Given the description of an element on the screen output the (x, y) to click on. 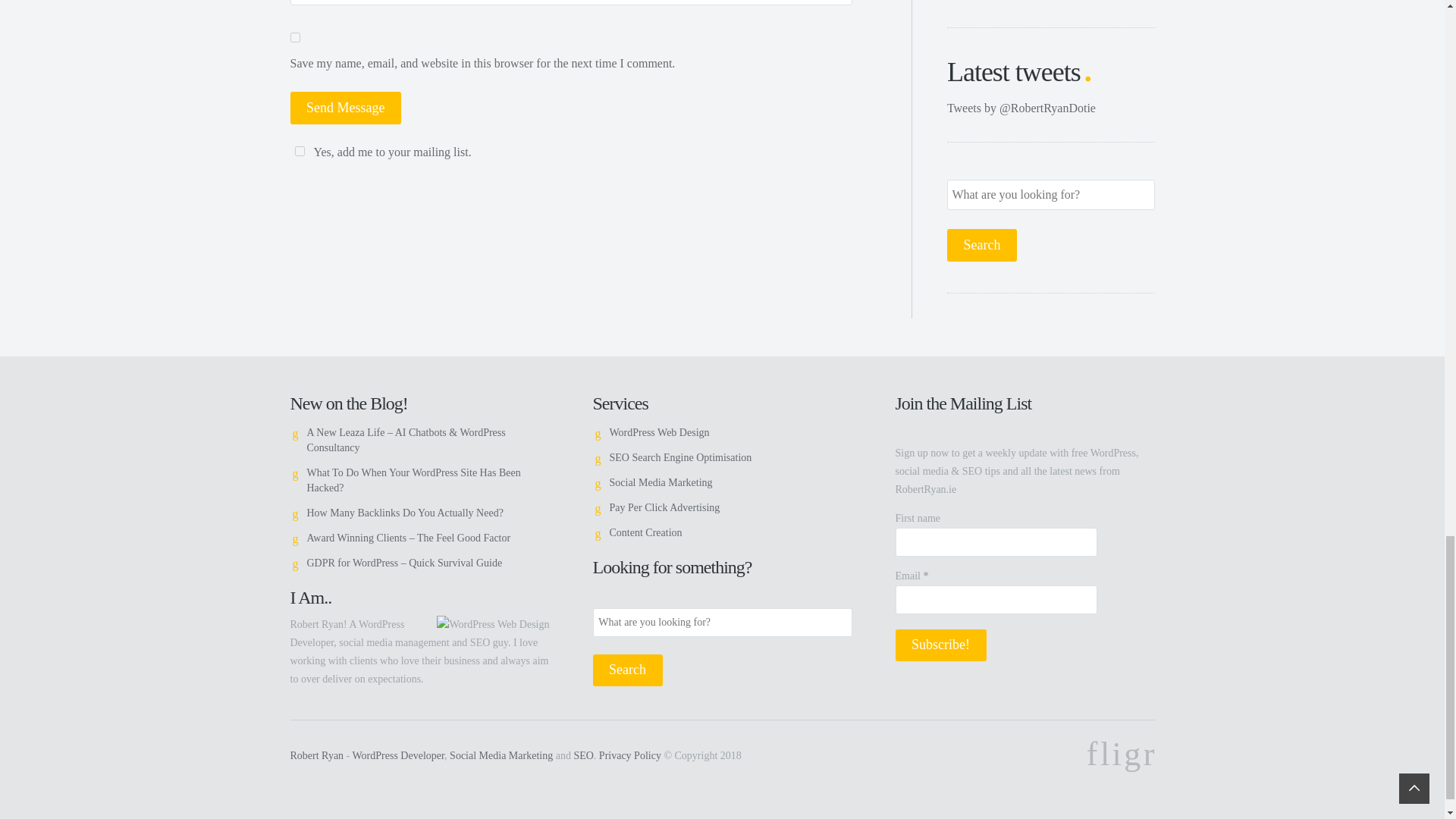
SEO Search Engine Optimisation (681, 457)
WordPress Web Design (660, 432)
yes (294, 37)
Search (981, 245)
Search (627, 670)
Subscribe! (940, 645)
1 (298, 151)
Send Message (345, 107)
Send Message (345, 107)
